Given the description of an element on the screen output the (x, y) to click on. 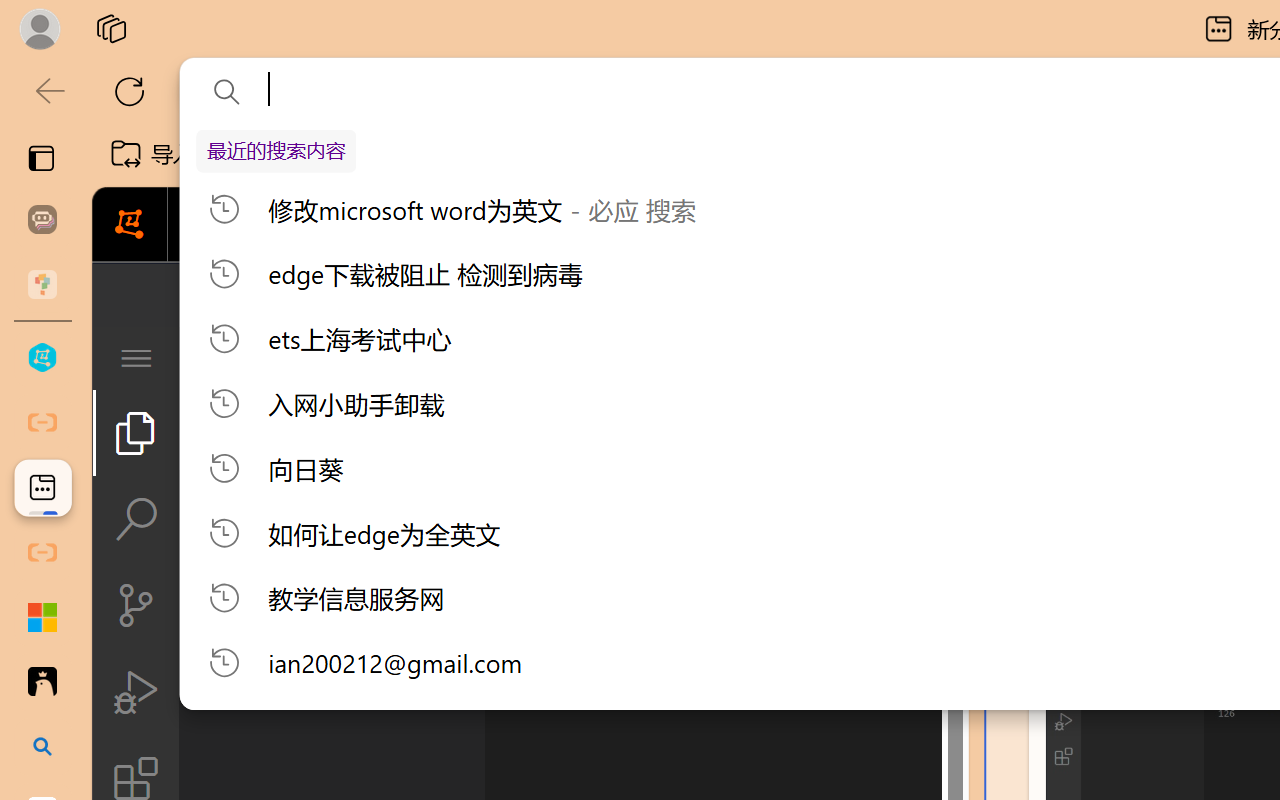
Close (Ctrl+F4) (946, 358)
Application Menu (135, 358)
Wikipedia, the free encyclopedia (437, 154)
wangyian_dsw - DSW (42, 357)
Tab actions (945, 358)
Explorer (Ctrl+Shift+E) (135, 432)
test.ipynb (864, 358)
